Given the description of an element on the screen output the (x, y) to click on. 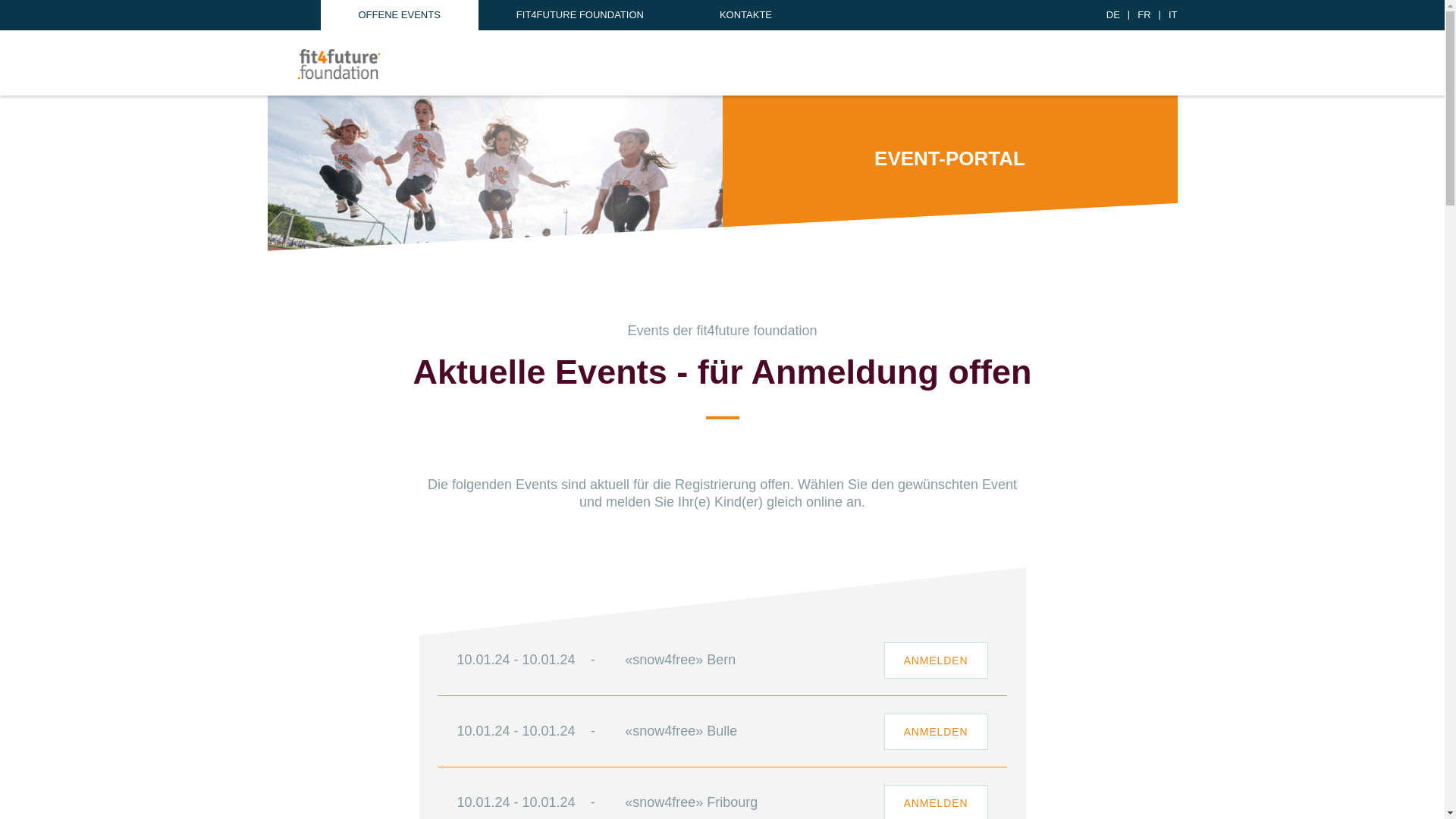
KONTAKTE Element type: text (745, 14)
Home Element type: hover (338, 64)
Home Element type: hover (338, 64)
DE Element type: text (1113, 14)
ANMELDEN Element type: text (936, 660)
IT Element type: text (1172, 14)
FR Element type: text (1143, 14)
FIT4FUTURE FOUNDATION Element type: text (579, 14)
ANMELDEN Element type: text (936, 731)
OFFENE EVENTS Element type: text (398, 14)
